Given the description of an element on the screen output the (x, y) to click on. 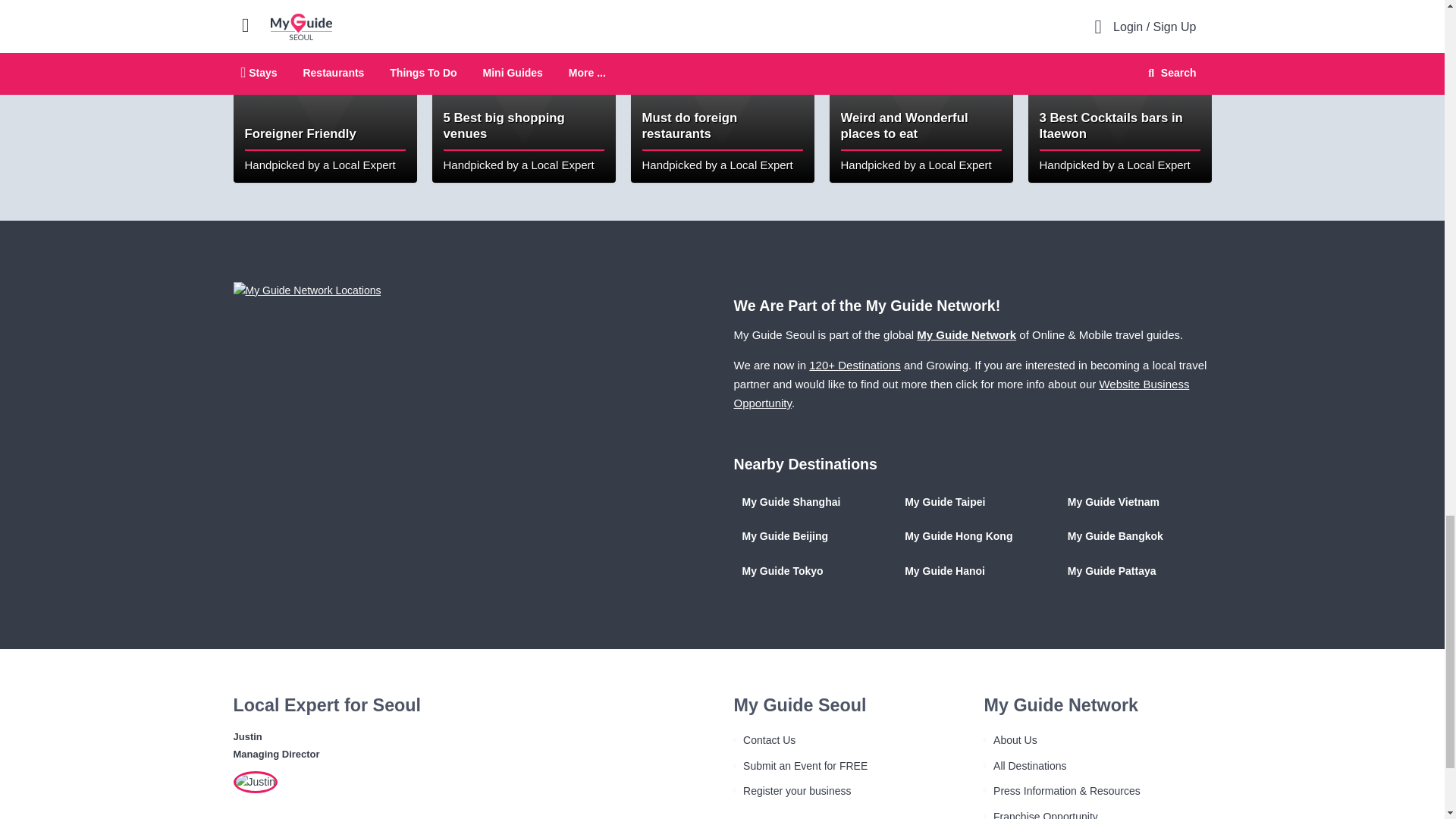
Must do foreign restaurants (721, 91)
Weird and Wonderful places to eat (921, 91)
Foreigner Friendly (324, 91)
5 Best big shopping venues (523, 91)
